Given the description of an element on the screen output the (x, y) to click on. 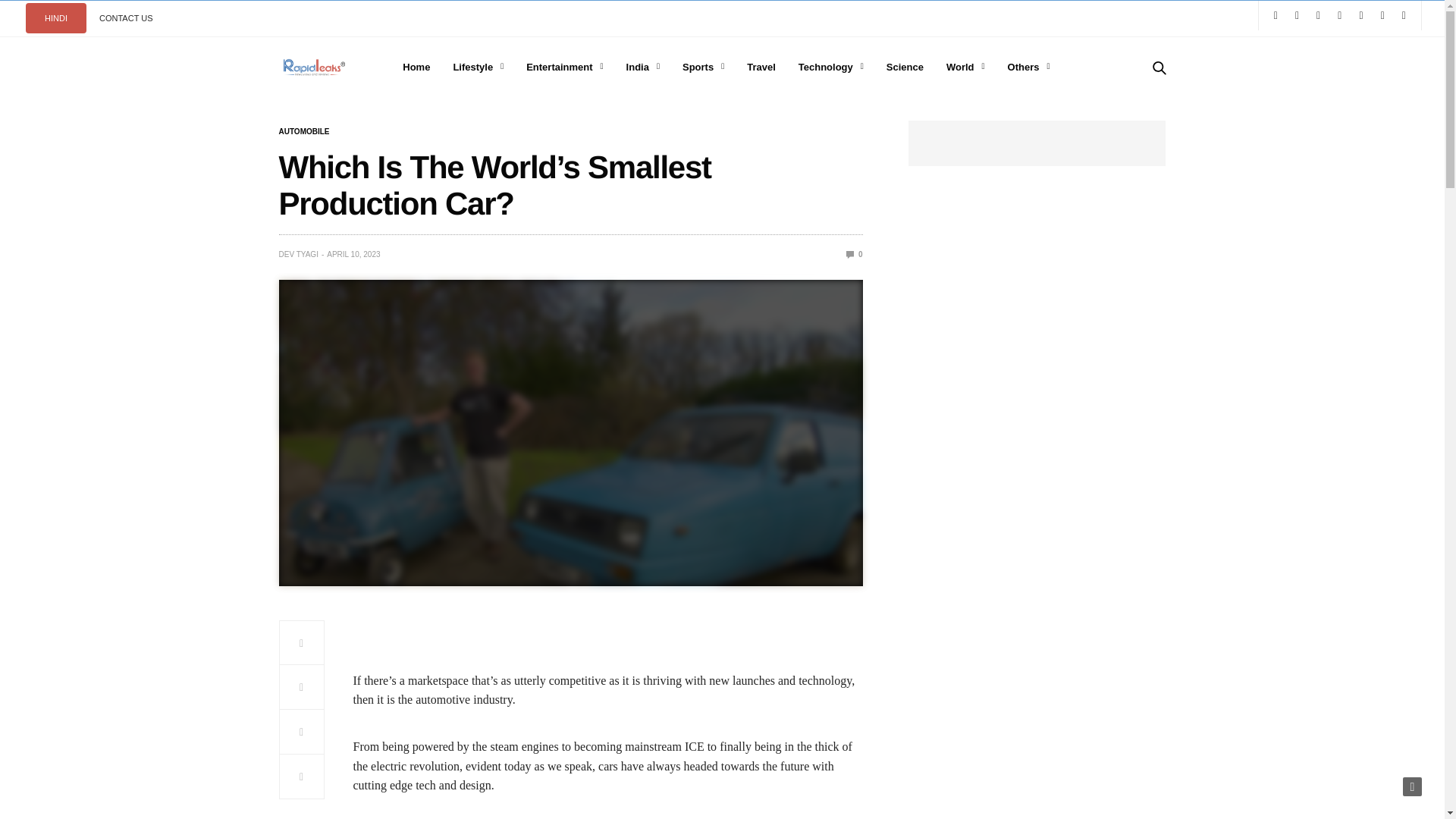
Lifestyle (477, 67)
Sports (702, 67)
Posts by Dev Tyagi (298, 254)
Automobile (304, 131)
Home (416, 67)
CONTACT US (125, 18)
India (642, 67)
HINDI (55, 18)
Entertainment (563, 67)
